Given the description of an element on the screen output the (x, y) to click on. 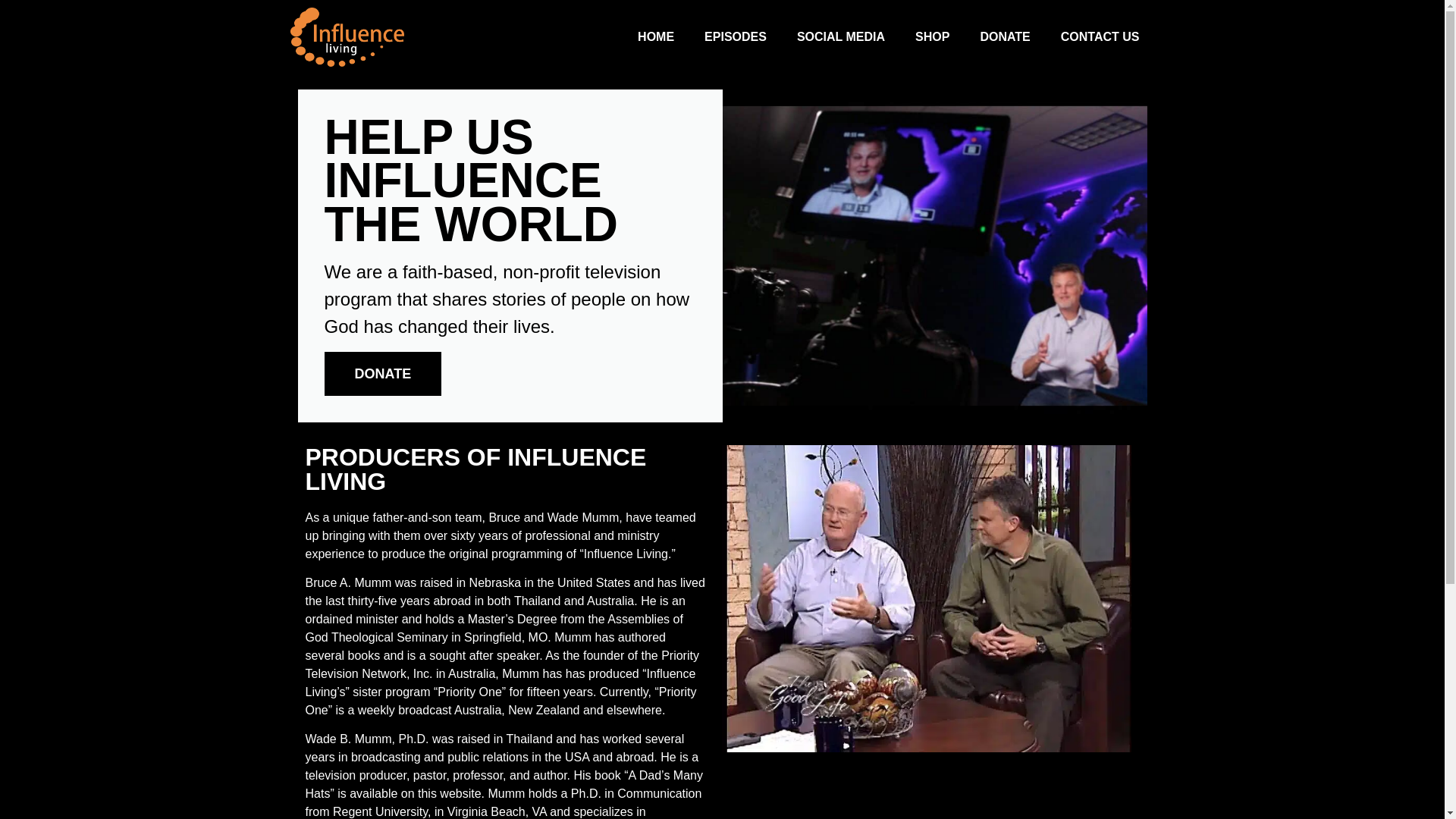
DONATE (1004, 36)
CONTACT US (1099, 36)
DONATE (383, 373)
EPISODES (734, 36)
HOME (655, 36)
SHOP (931, 36)
SOCIAL MEDIA (840, 36)
